Given the description of an element on the screen output the (x, y) to click on. 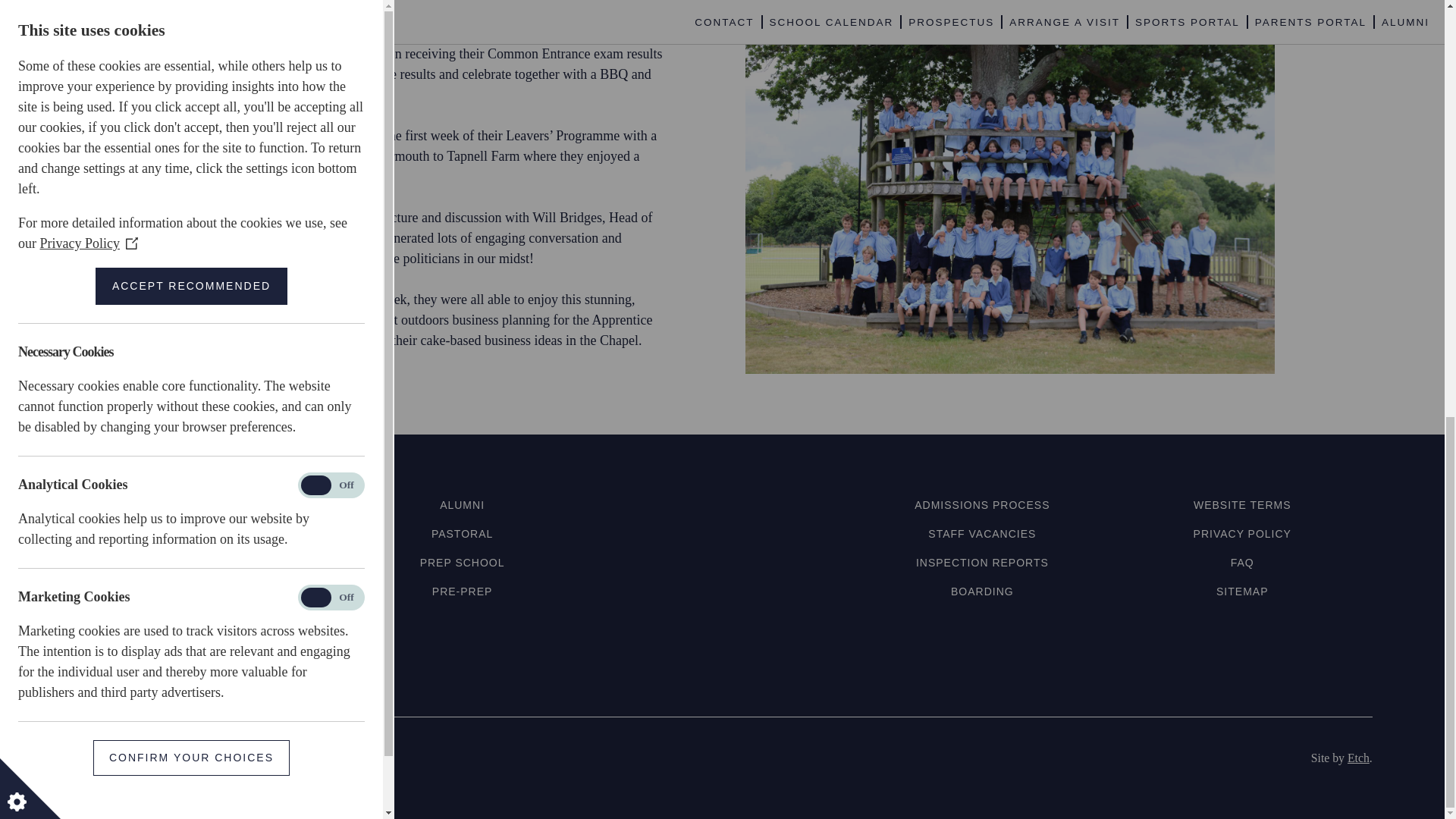
News (201, 562)
Prep School (462, 562)
Home (201, 504)
Ethos (202, 533)
Alumni (461, 504)
Pastoral (461, 533)
Contact us (202, 591)
